Given the description of an element on the screen output the (x, y) to click on. 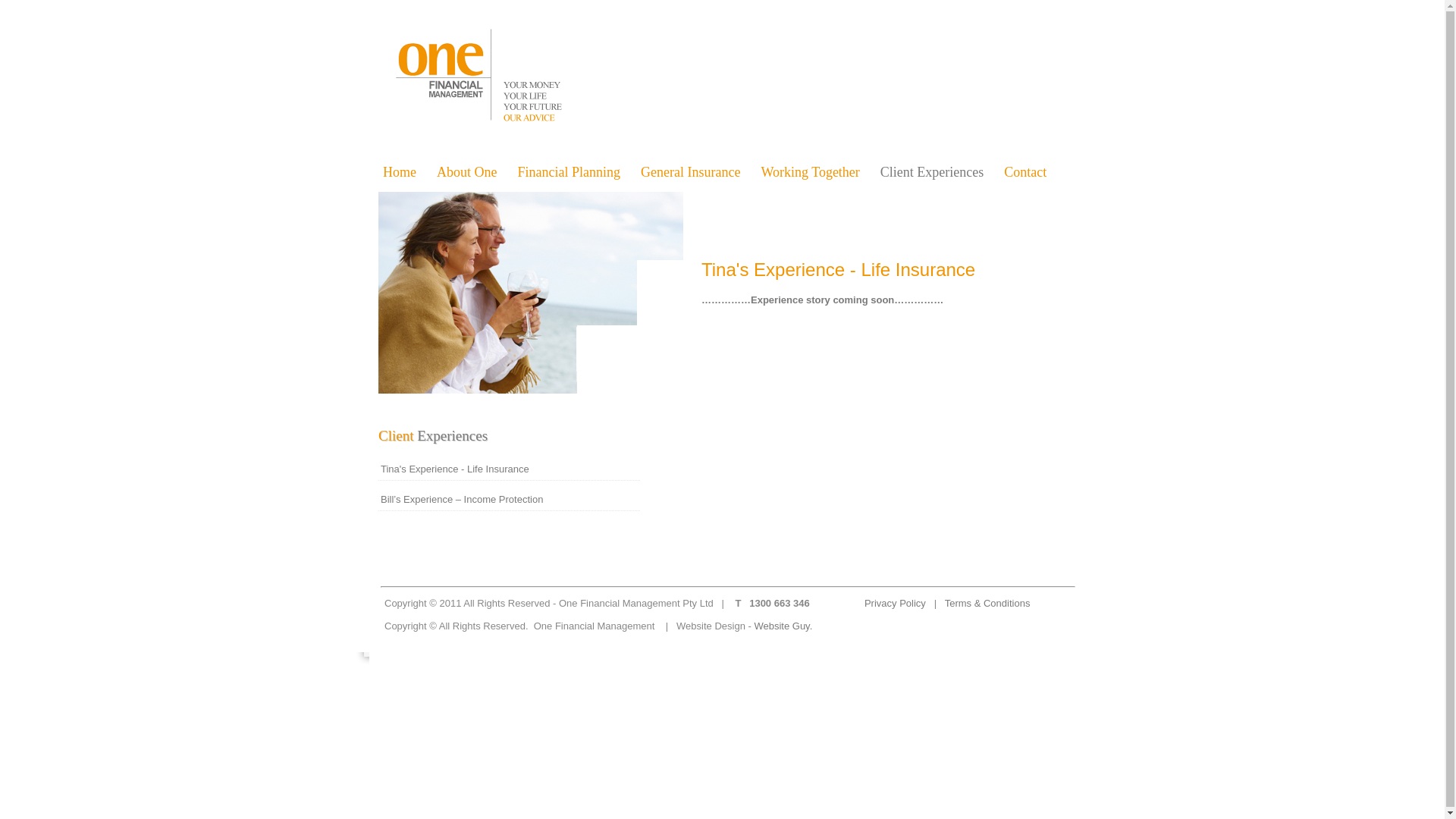
Terms & Conditions Element type: text (987, 602)
Financial Planning Element type: text (575, 174)
. Element type: text (810, 625)
About One Element type: text (475, 174)
Home Element type: text (409, 174)
Website Guy Element type: text (781, 625)
Contact Element type: text (1035, 174)
Tina's Experience - Life Insurance Element type: text (509, 469)
Working Together Element type: text (817, 174)
General Insurance Element type: text (697, 174)
Client Experiences Element type: text (939, 174)
Privacy Policy Element type: text (896, 602)
